Given the description of an element on the screen output the (x, y) to click on. 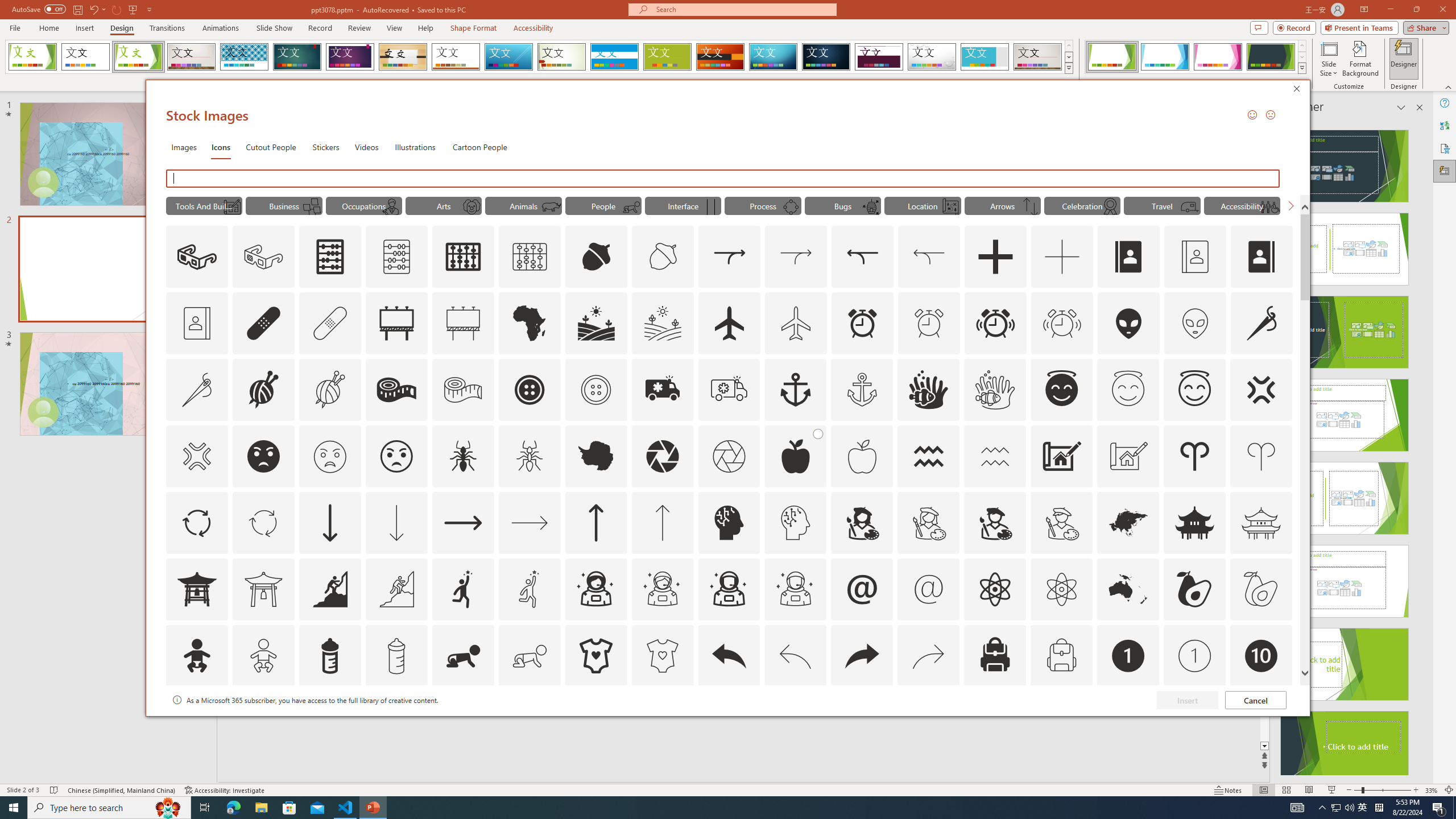
AutomationID: Icons_AdhesiveBandage (263, 323)
AutomationID: Icons_Backpack_M (1061, 655)
AutomationID: Icons_AstronautMale_M (795, 588)
Cartoon People (479, 146)
"Location" Icons. (921, 205)
AutomationID: SlideThemesGallery (539, 56)
AutomationID: Icons_AsianTemple_M (1260, 522)
